Given the description of an element on the screen output the (x, y) to click on. 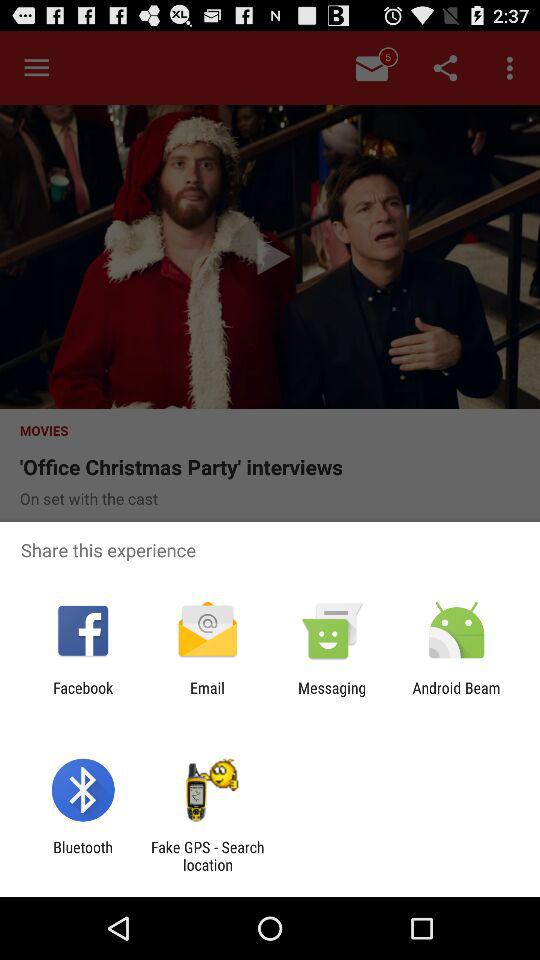
turn off messaging icon (332, 696)
